Given the description of an element on the screen output the (x, y) to click on. 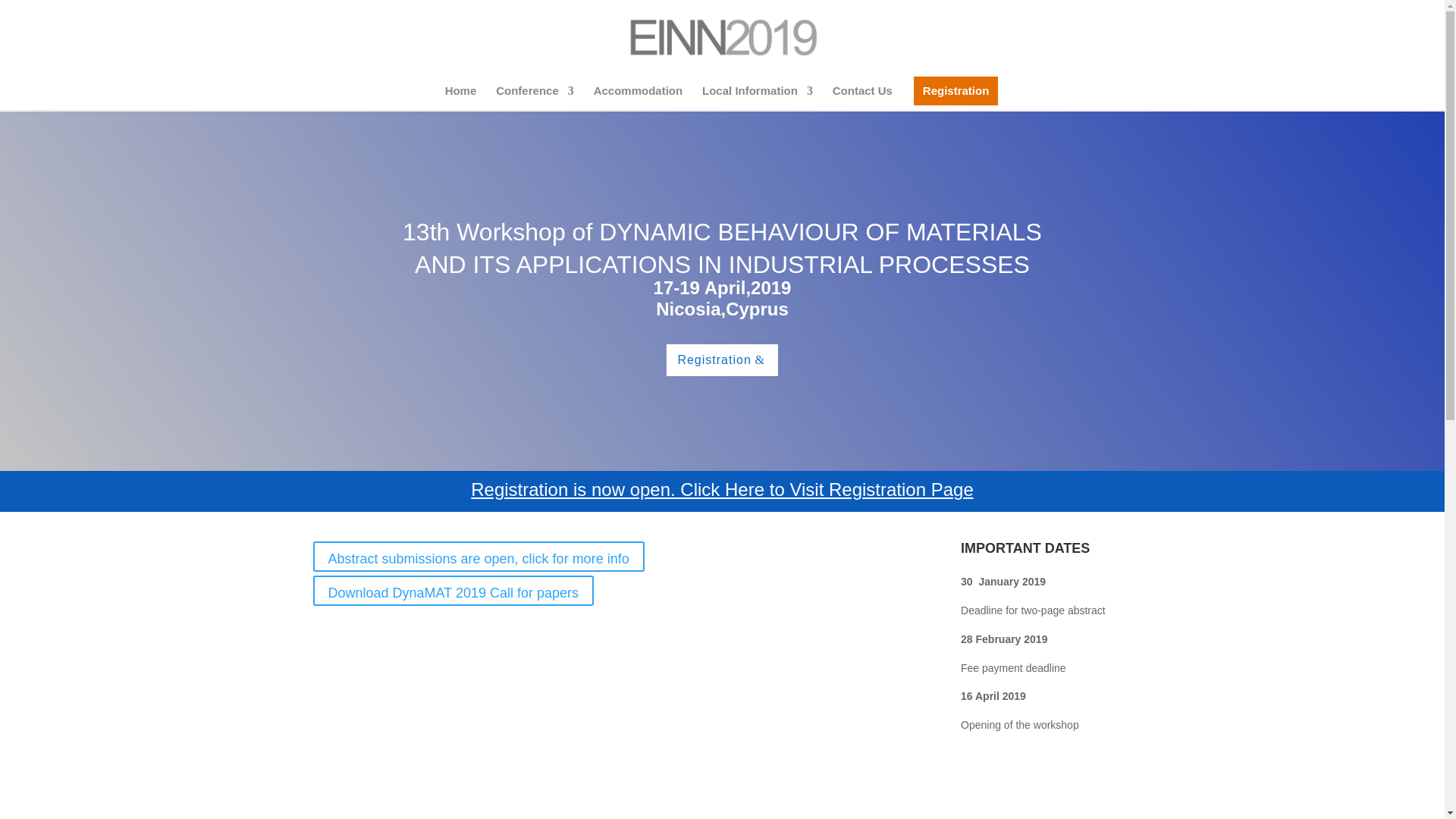
Accommodation (638, 97)
Conference (534, 97)
Contact Us (862, 97)
Local Information (756, 97)
Download DynaMAT 2019 Call for papers (453, 630)
Registration (721, 400)
Abstract submissions are open, click for more info (478, 596)
Registration (956, 97)
Home (461, 97)
